Given the description of an element on the screen output the (x, y) to click on. 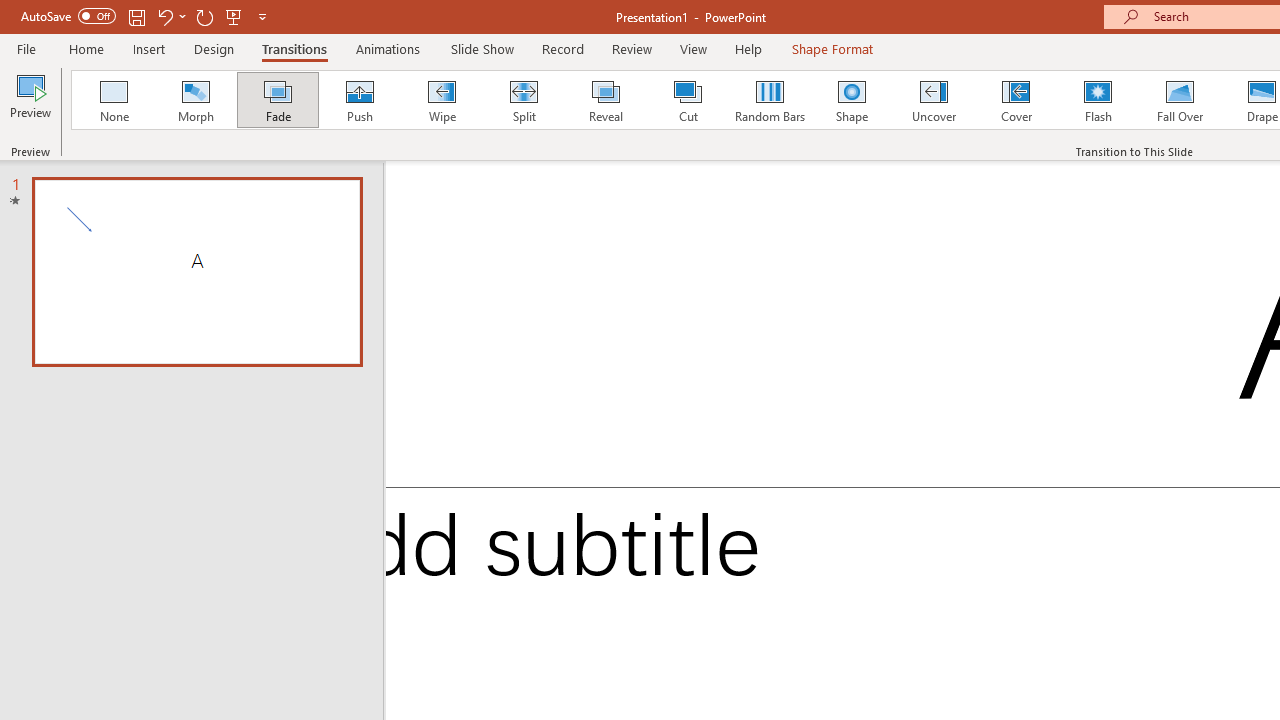
Reveal (605, 100)
Split (523, 100)
Shape (852, 100)
Morph (195, 100)
Random Bars (770, 100)
Uncover (934, 100)
